Given the description of an element on the screen output the (x, y) to click on. 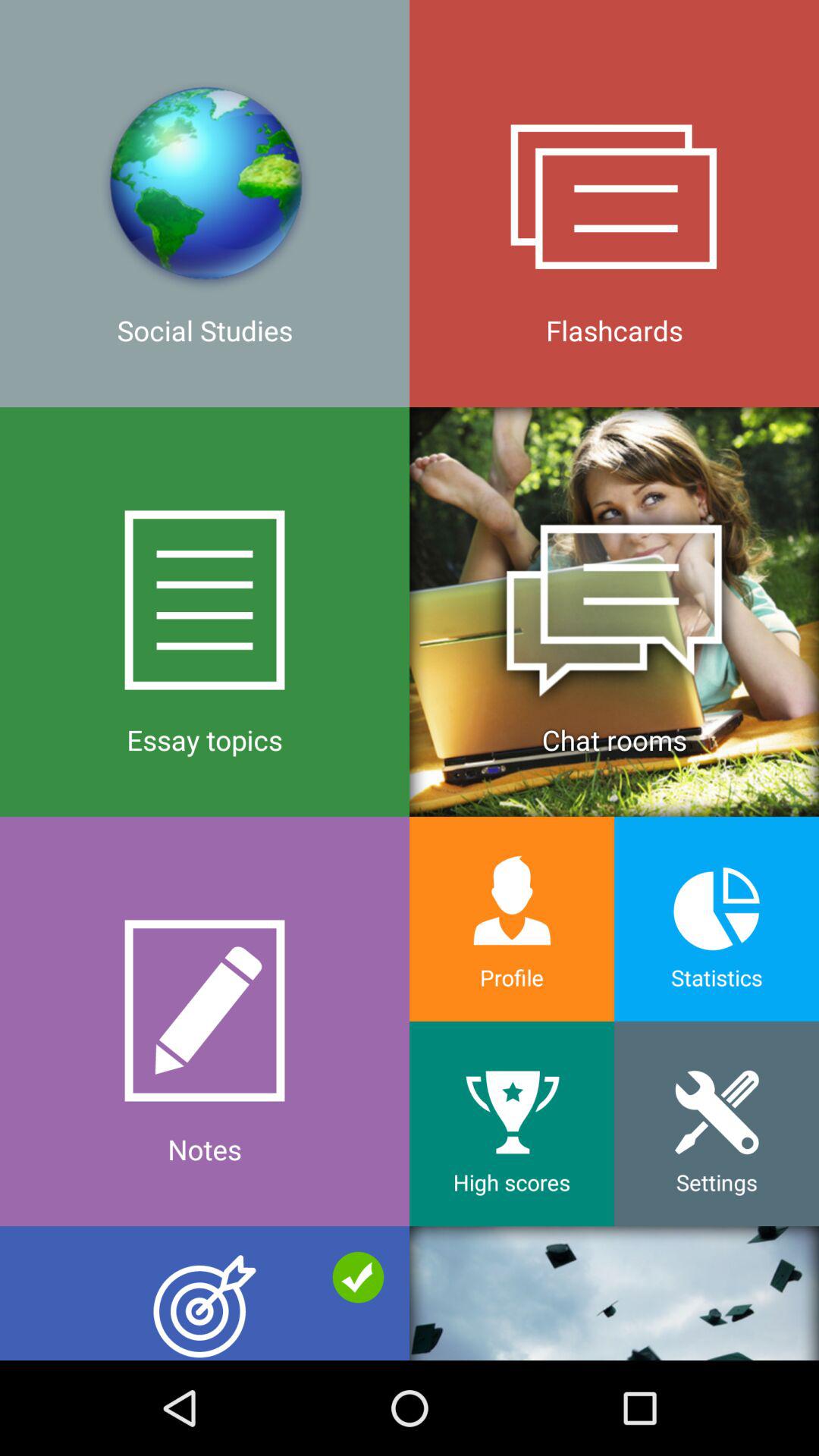
turn off item below notes app (614, 1293)
